Given the description of an element on the screen output the (x, y) to click on. 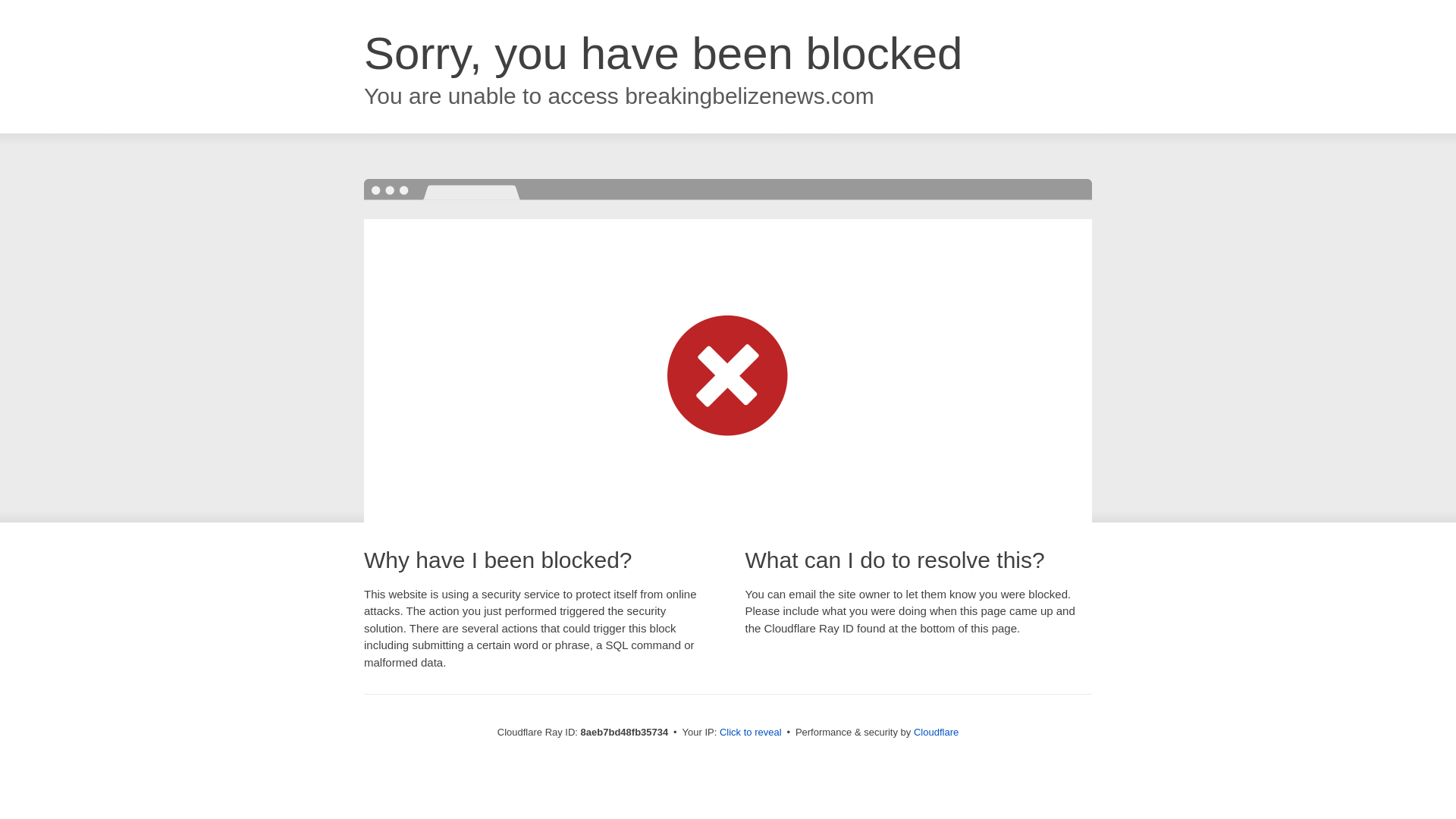
Click to reveal (750, 732)
Cloudflare (936, 731)
